Given the description of an element on the screen output the (x, y) to click on. 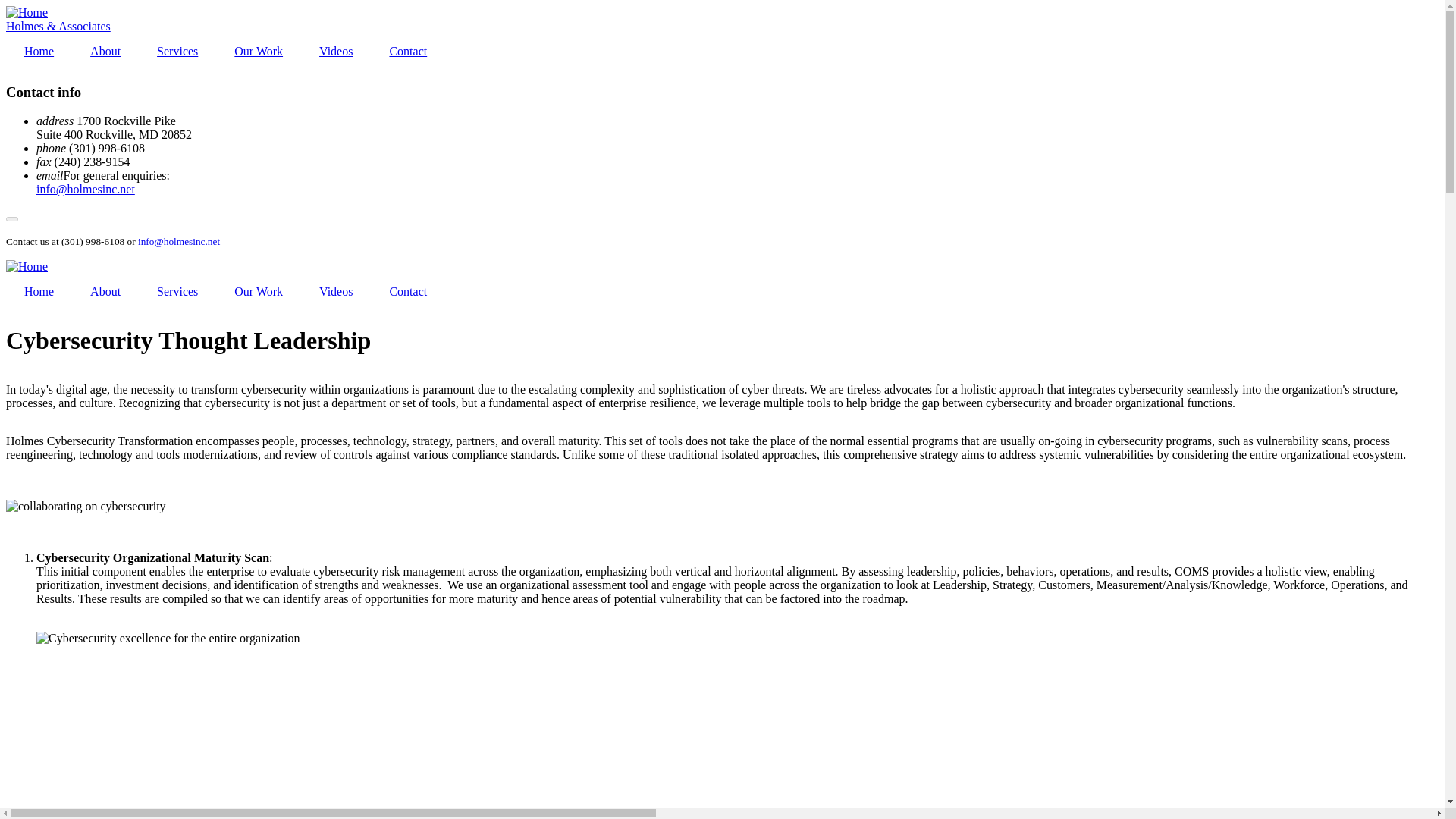
Contact (408, 291)
About (104, 291)
Services (176, 51)
Videos (336, 51)
Home (26, 266)
Contact (408, 51)
Home (38, 51)
Services (176, 291)
Videos (336, 291)
About (104, 51)
Our Work (258, 51)
Home (26, 11)
Home (38, 291)
Home (57, 25)
